Given the description of an element on the screen output the (x, y) to click on. 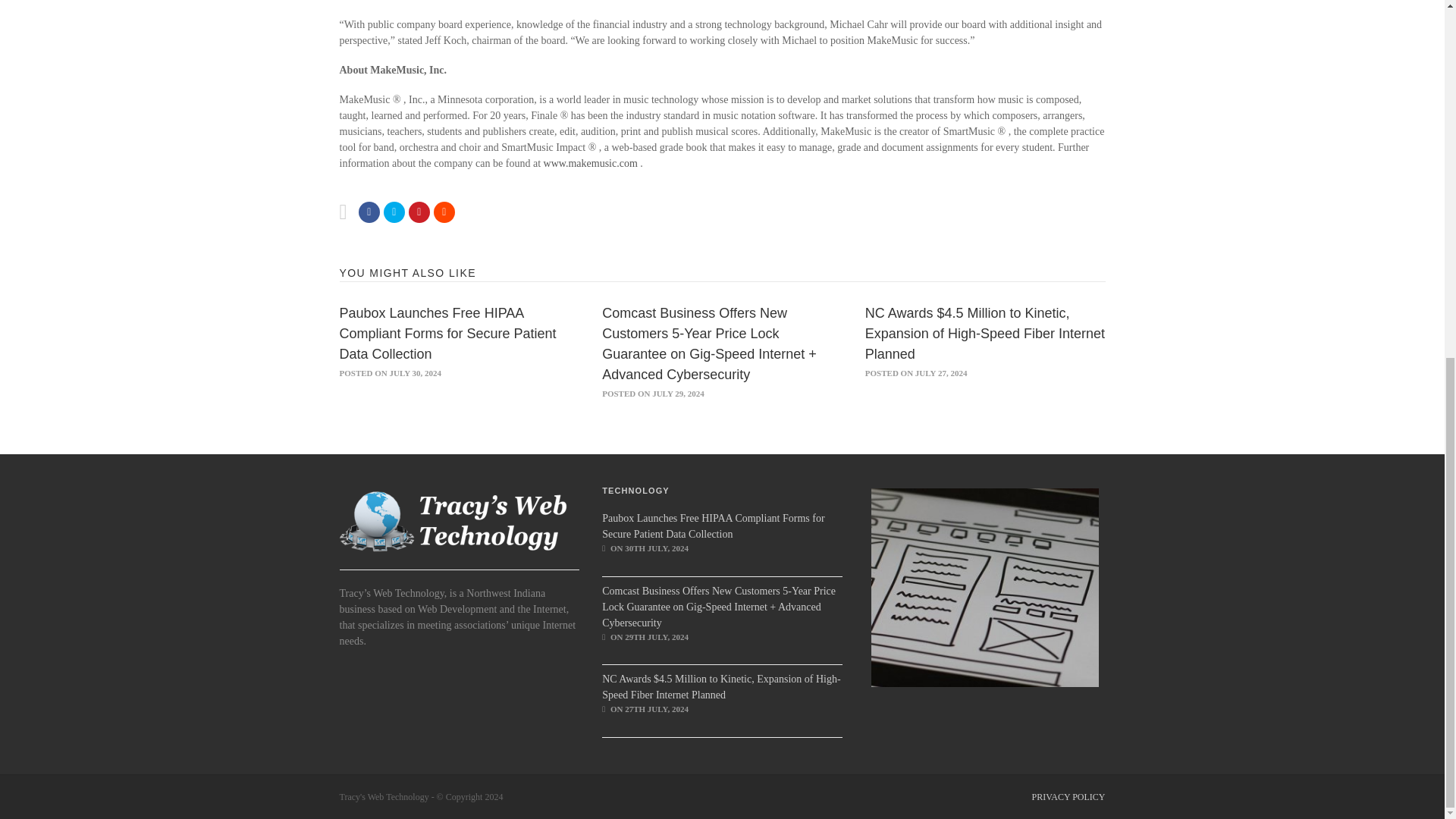
Tweet (394, 211)
Share on Facebook (369, 211)
Submit to Reddit (419, 211)
www.makemusic.com (591, 163)
Submit to Reddit (443, 211)
